Given the description of an element on the screen output the (x, y) to click on. 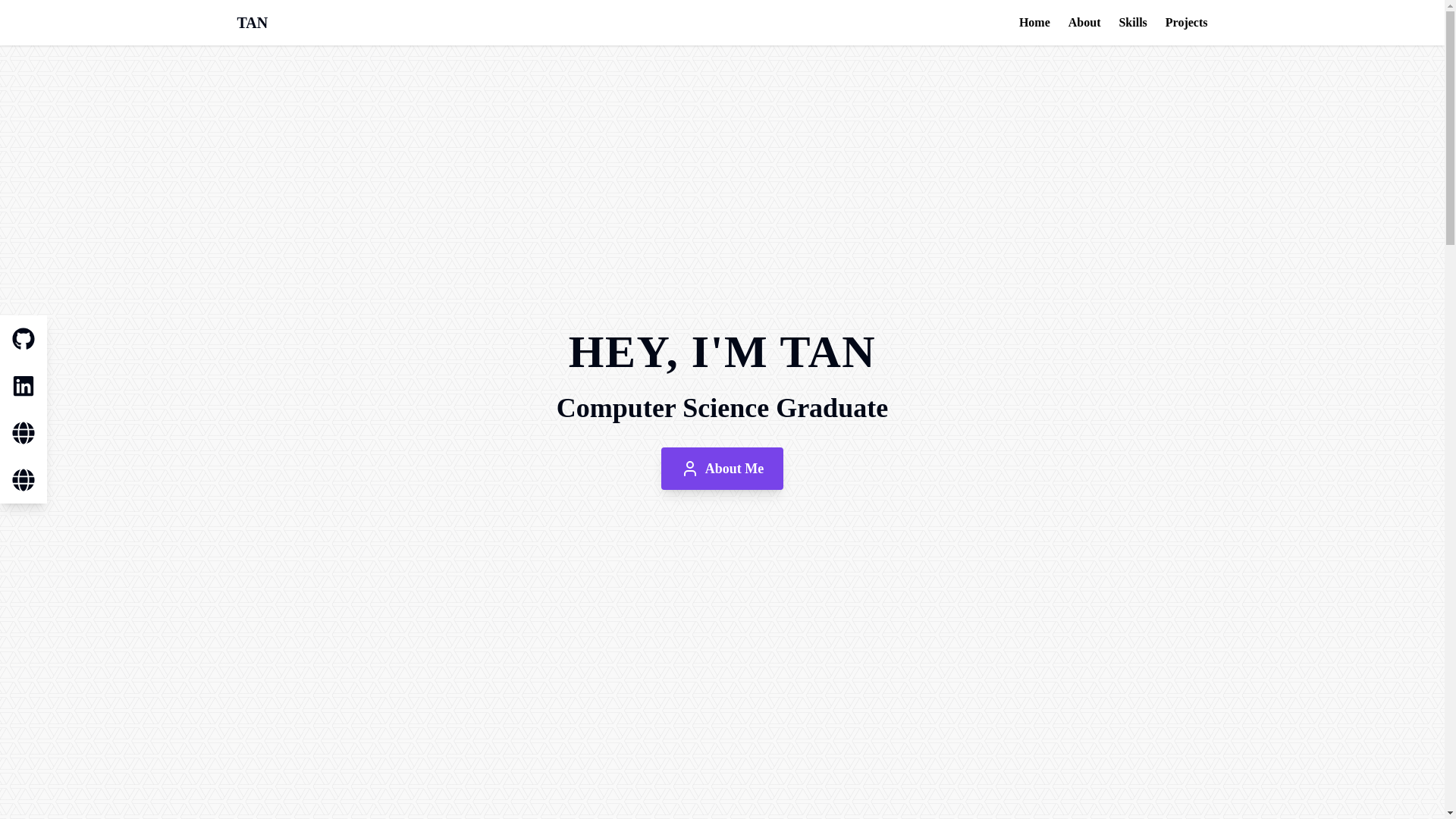
Skills (1132, 22)
TAN (251, 22)
Home (1034, 22)
Projects (1187, 22)
About Me (722, 468)
About (1084, 22)
